Given the description of an element on the screen output the (x, y) to click on. 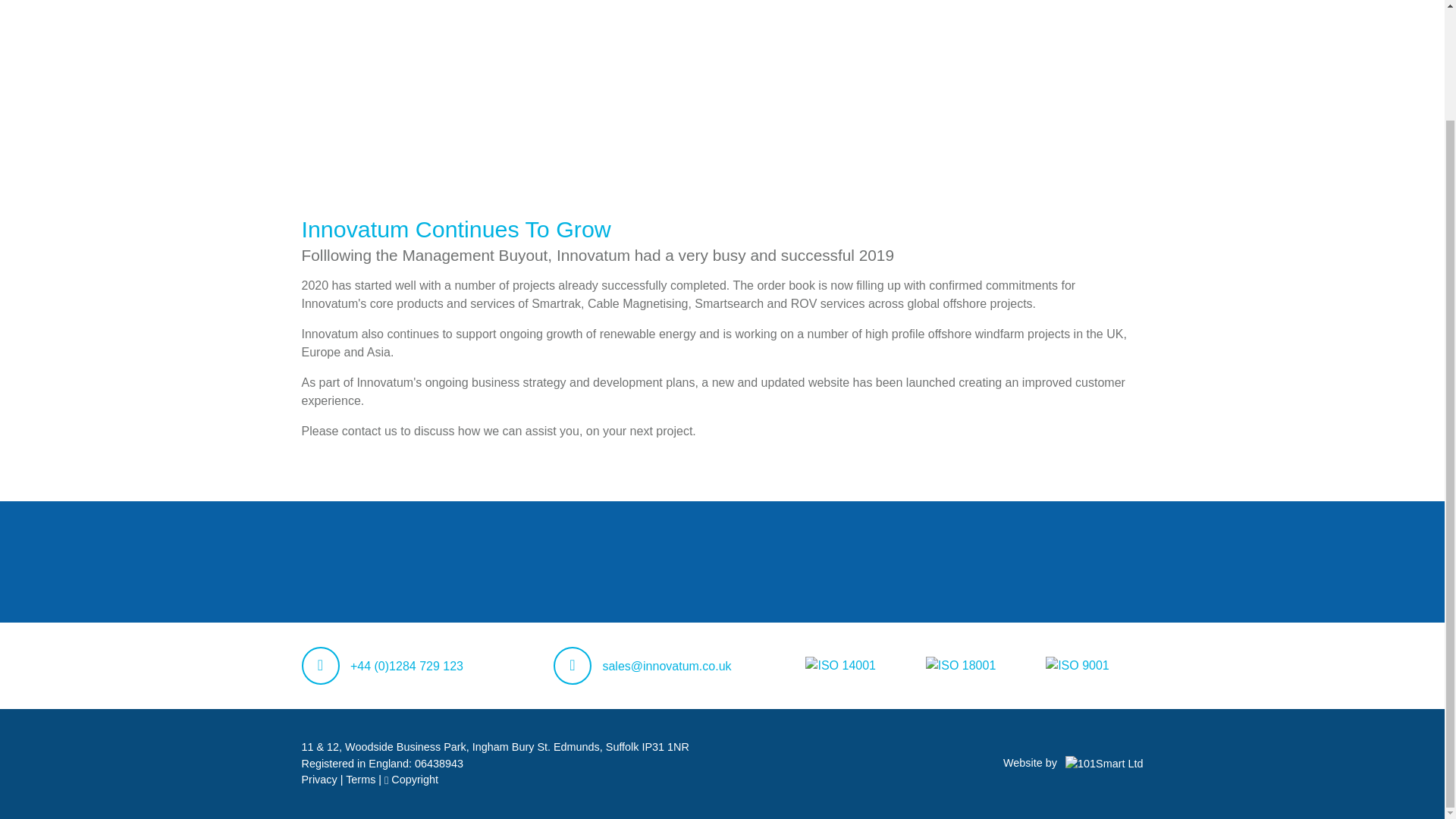
Website by (1072, 762)
Email Us (642, 666)
Terms (362, 779)
Privacy (320, 779)
Call Us (382, 666)
